Given the description of an element on the screen output the (x, y) to click on. 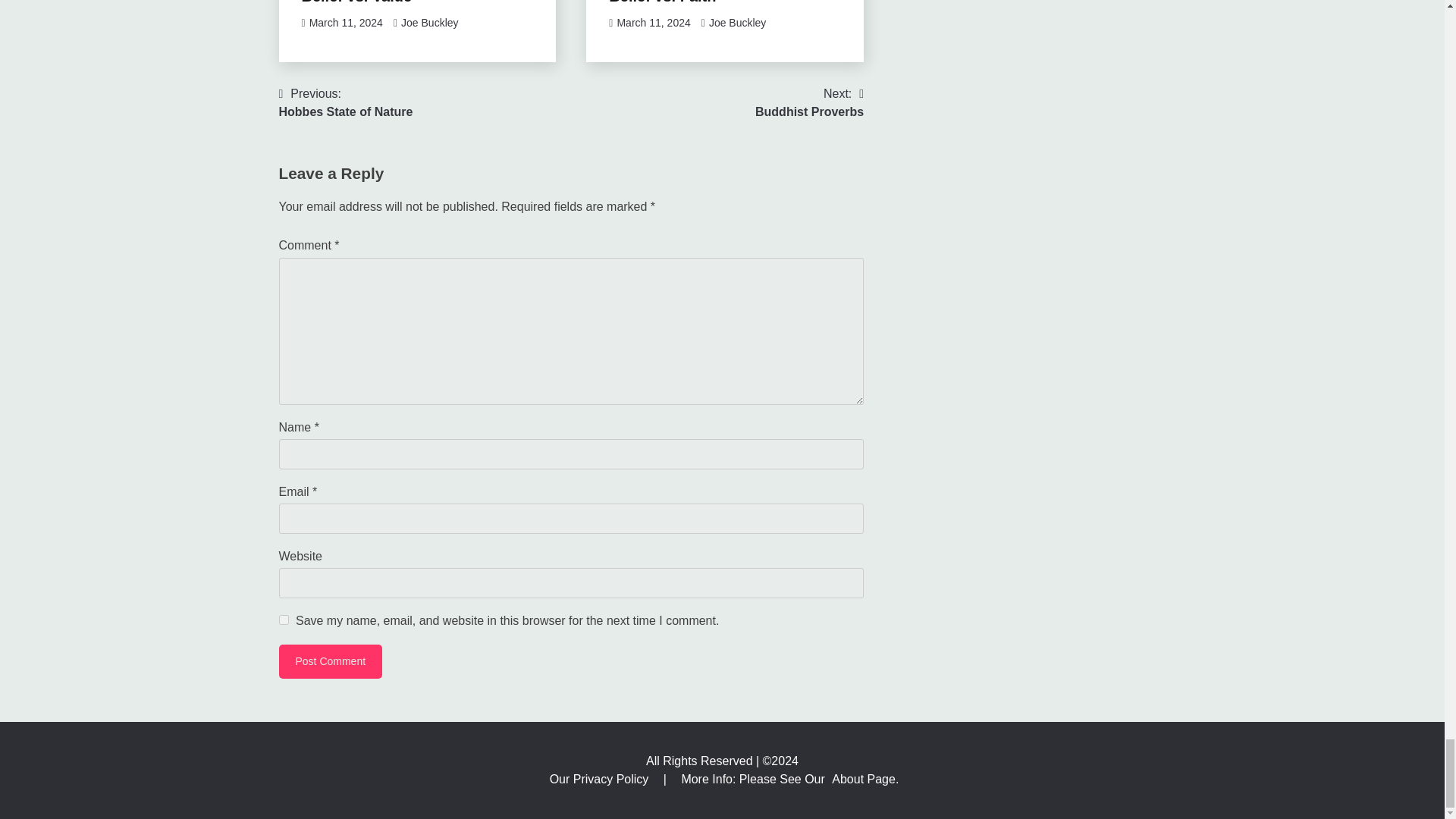
yes (283, 619)
March 11, 2024 (345, 22)
Post Comment (330, 661)
Joe Buckley (429, 22)
March 11, 2024 (652, 22)
Joe Buckley (737, 22)
Belief vs. Value (356, 2)
Belief vs. Faith (662, 2)
